Given the description of an element on the screen output the (x, y) to click on. 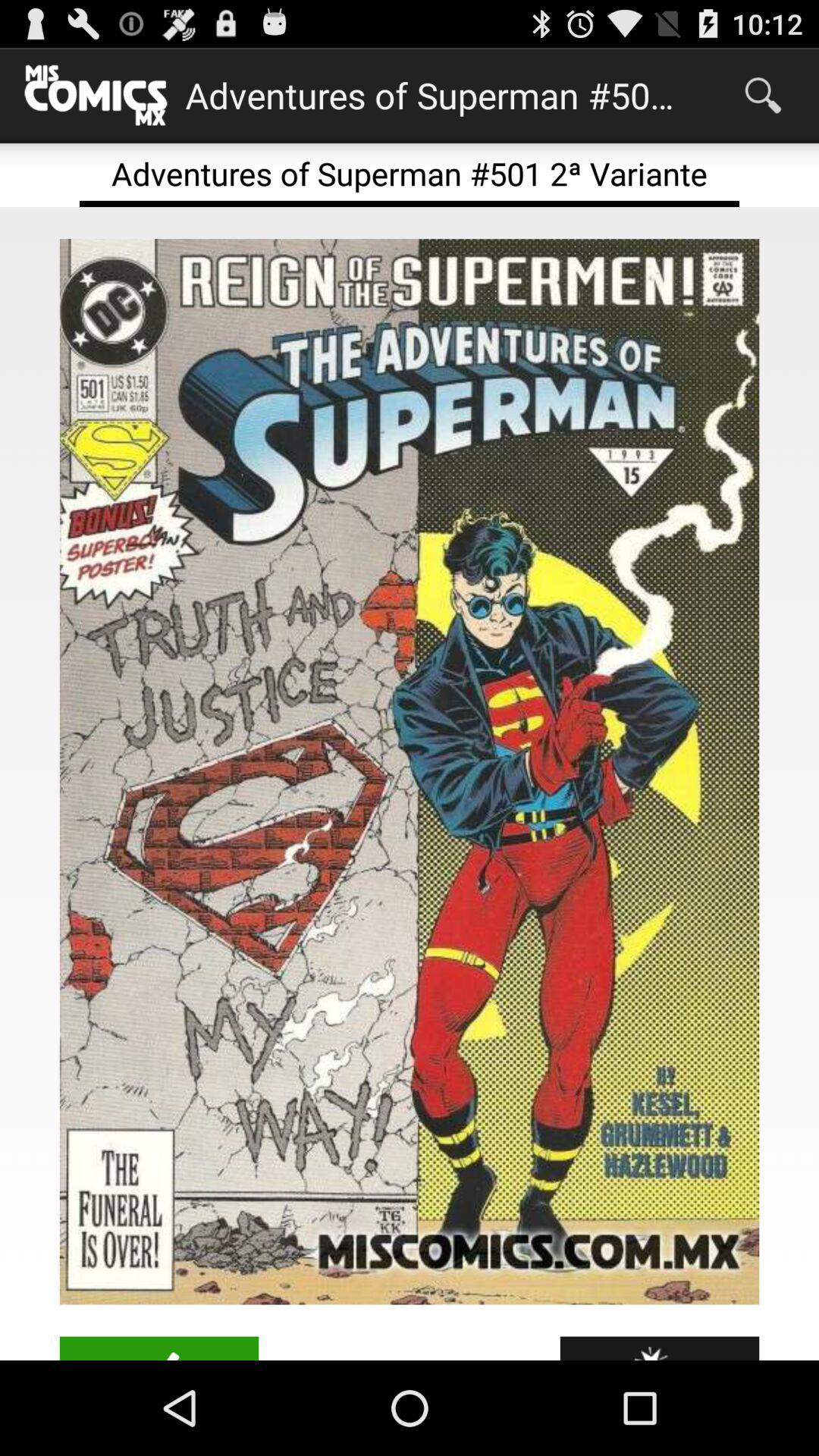
turn on item at the bottom right corner (659, 1348)
